Given the description of an element on the screen output the (x, y) to click on. 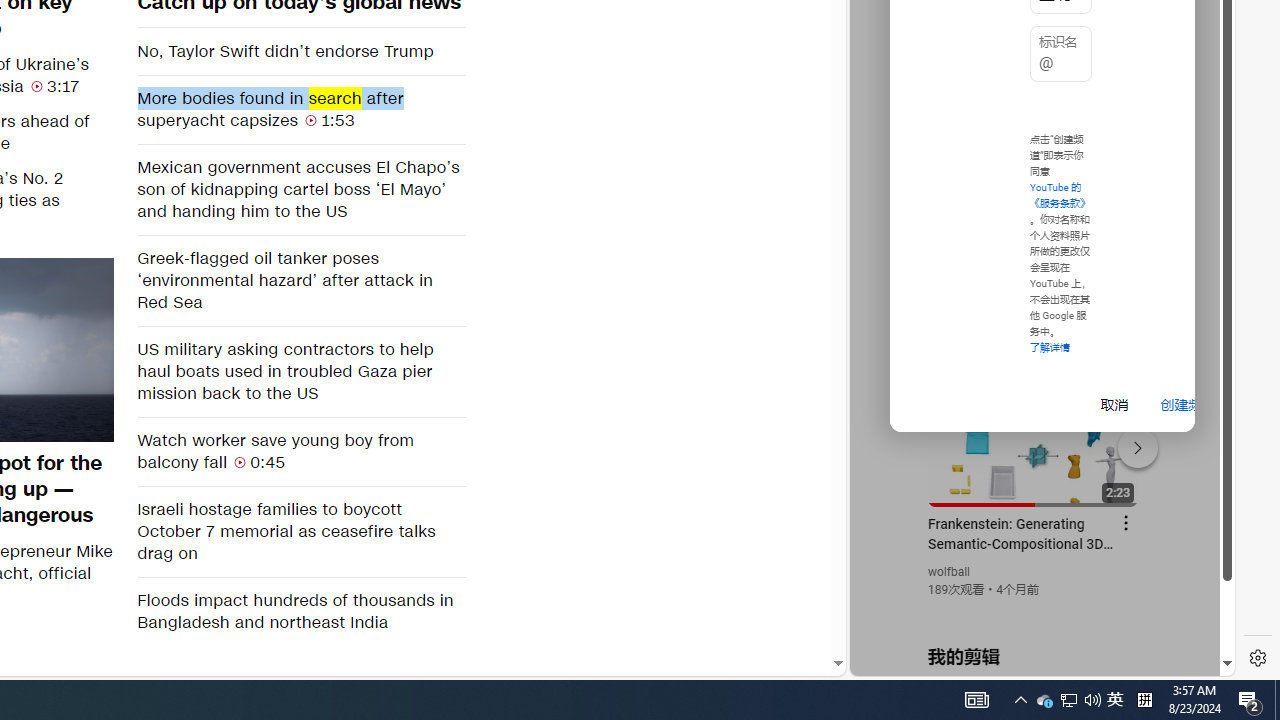
Class: container__video-duration-icon (240, 461)
